Given the description of an element on the screen output the (x, y) to click on. 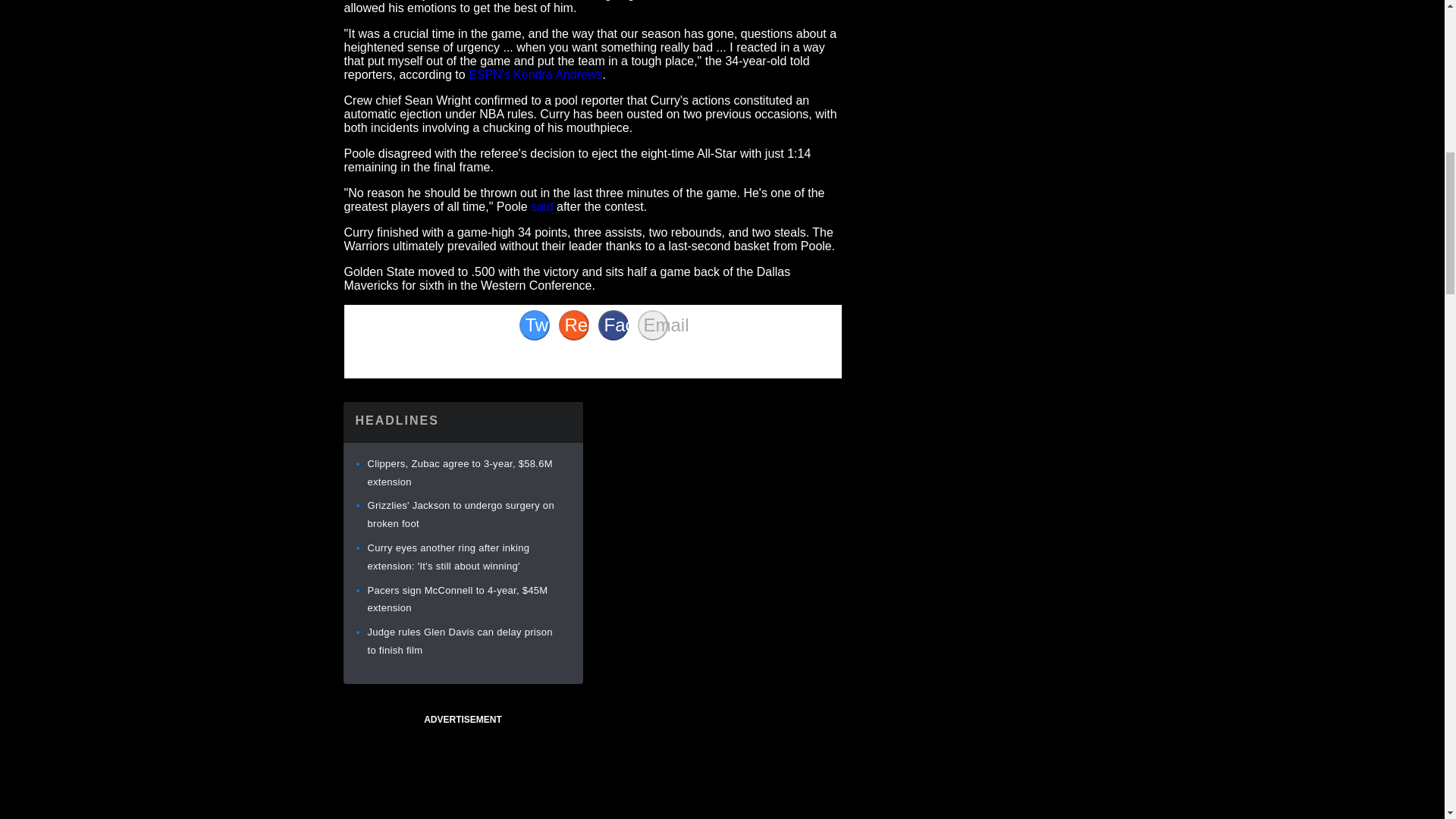
Twitter (533, 325)
ESPN's Kendra Andrews (535, 74)
Facebook (611, 325)
said (542, 205)
Reddit (572, 325)
Grizzlies' Jackson to undergo surgery on broken foot (459, 514)
Email (651, 325)
Judge rules Glen Davis can delay prison to finish film (458, 641)
